Given the description of an element on the screen output the (x, y) to click on. 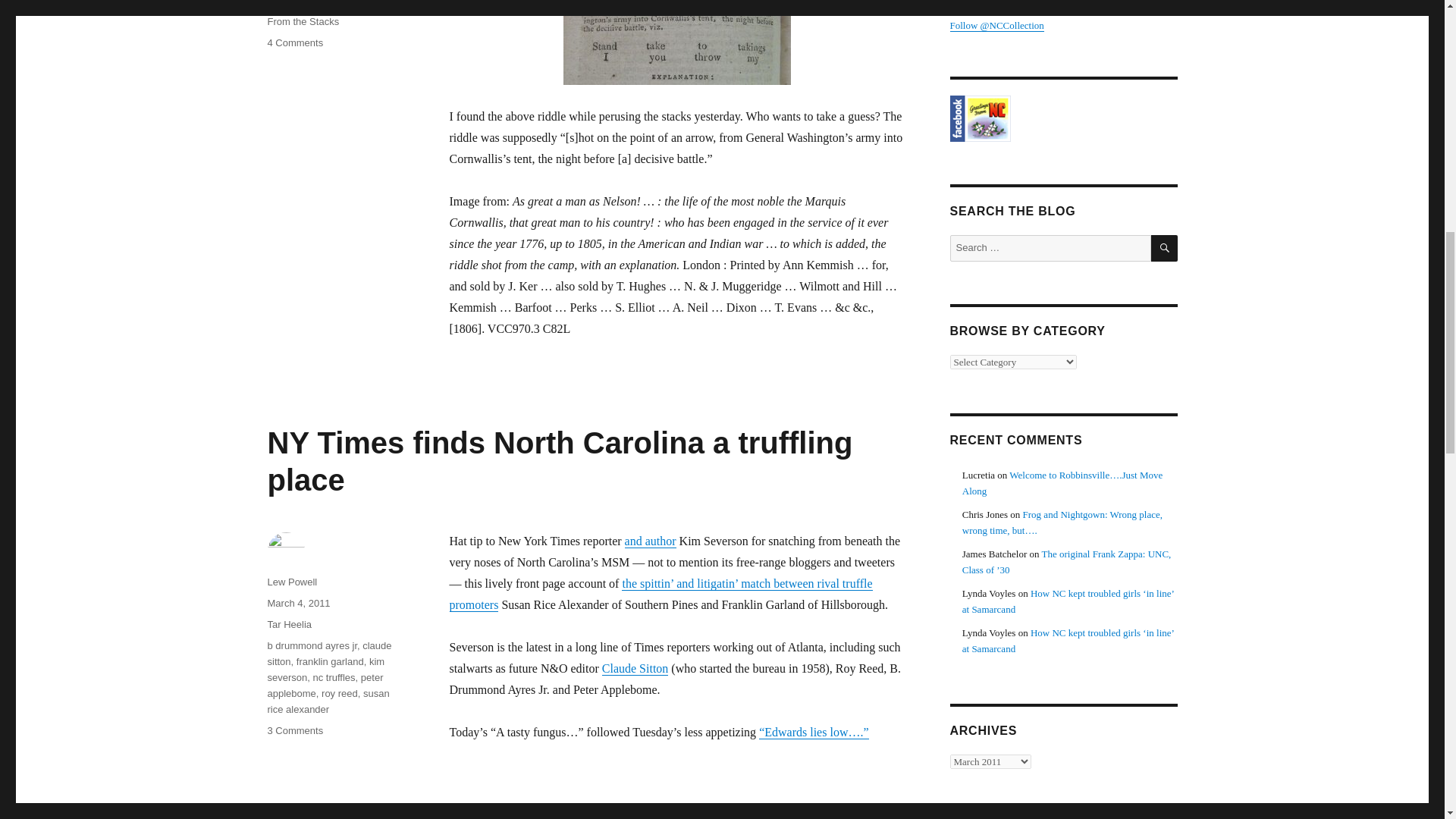
NY Times finds North Carolina a truffling place (558, 460)
March 4, 2011 (298, 2)
Claude Sitton (635, 667)
susan rice alexander (327, 700)
b drummond ayres jr (311, 645)
Tar Heelia (288, 624)
North Carolina Collection, Wilson Library, UNC-Chapel Hill (1062, 118)
claude sitton (294, 42)
peter applebome (328, 653)
nc truffles (324, 685)
franklin garland (334, 677)
Lew Powell (330, 661)
and author (291, 582)
